Given the description of an element on the screen output the (x, y) to click on. 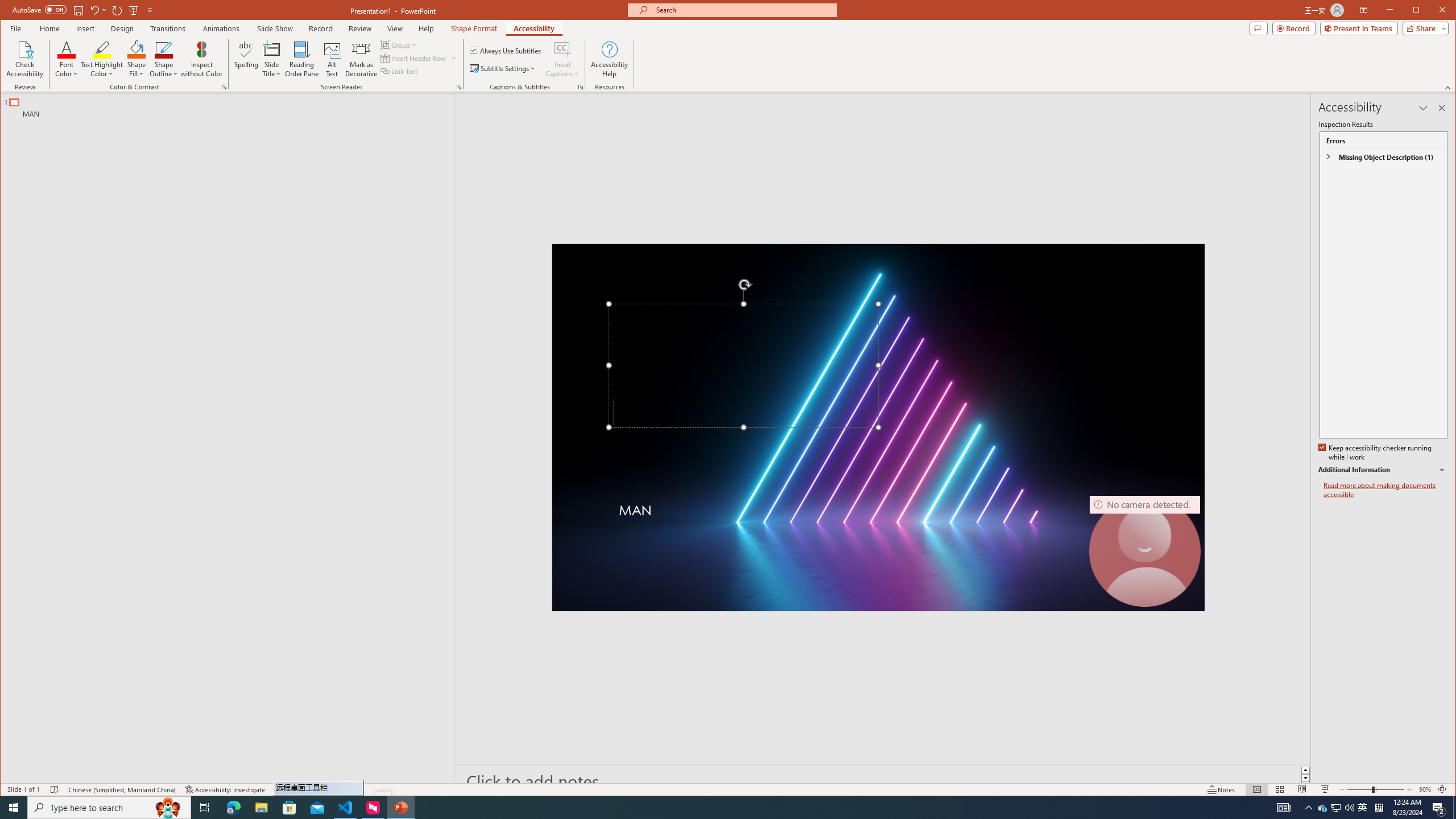
Reading Order Pane (301, 59)
Insert Captions (562, 48)
Slide Title (271, 48)
Group (399, 44)
Check Accessibility (1322, 807)
Running applications (25, 59)
Insert Header Row (700, 807)
Zoom 90% (418, 57)
Captions & Subtitles (1424, 789)
Camera 7, No camera detected. (580, 86)
